Given the description of an element on the screen output the (x, y) to click on. 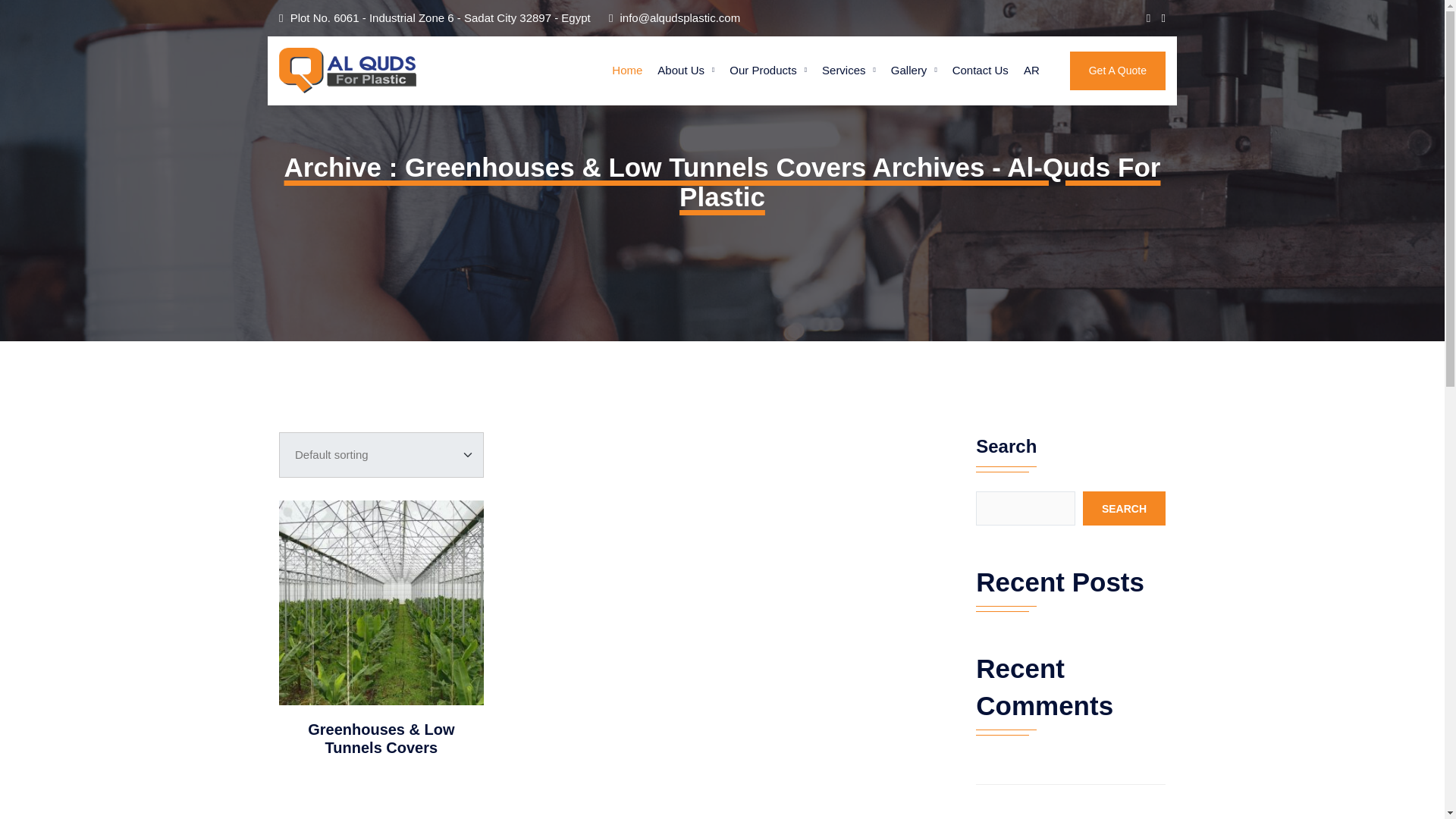
Gallery (913, 70)
Contact Us (980, 70)
Our Products (767, 70)
About Us (685, 70)
Services (848, 70)
Get A Quote (1118, 70)
Al Quds (354, 70)
